Given the description of an element on the screen output the (x, y) to click on. 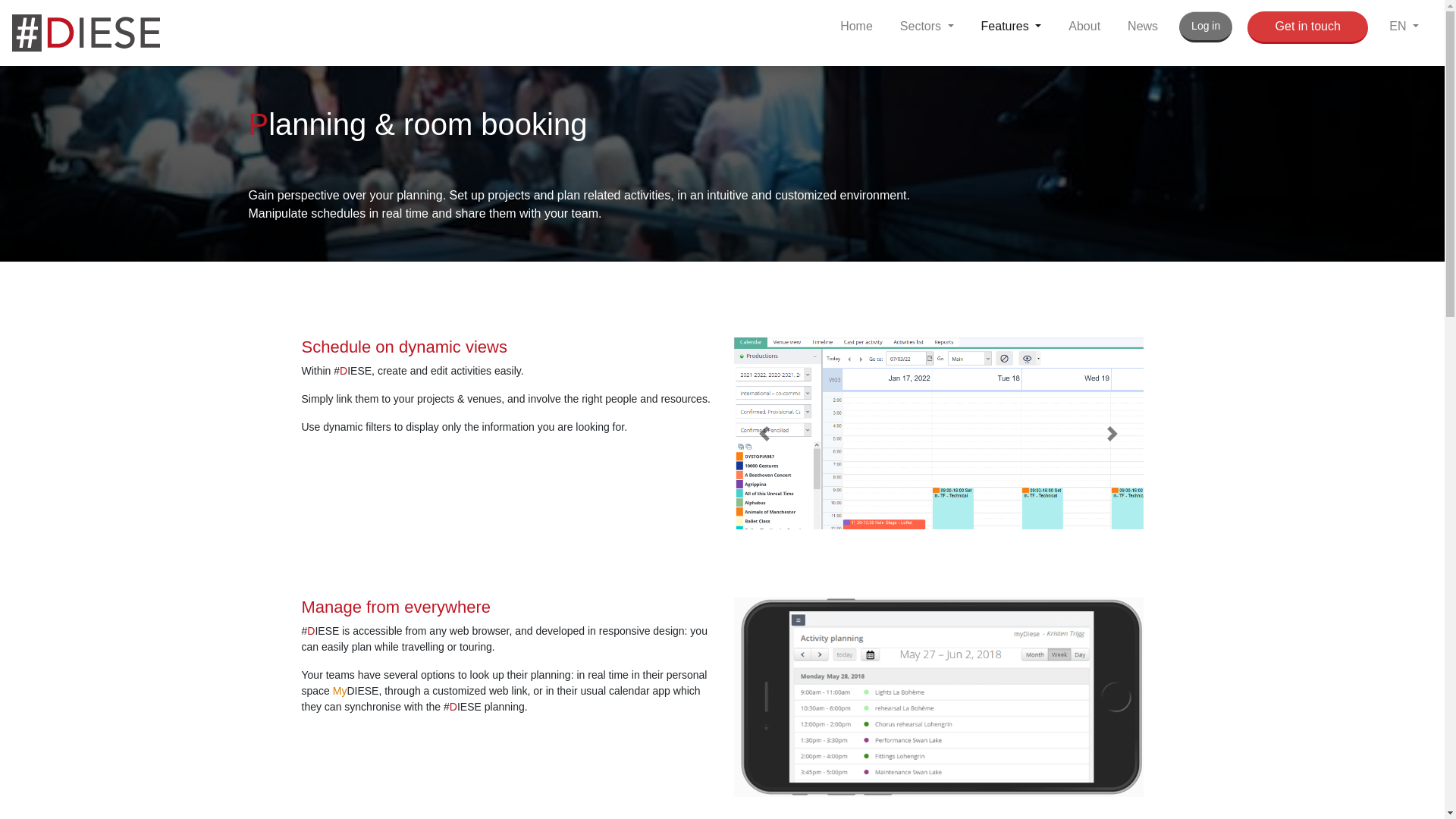
Get in touch (1307, 27)
Log in (1205, 26)
News (1142, 26)
Sectors (926, 26)
EN (1404, 26)
Features (1011, 26)
About (1084, 26)
